Given the description of an element on the screen output the (x, y) to click on. 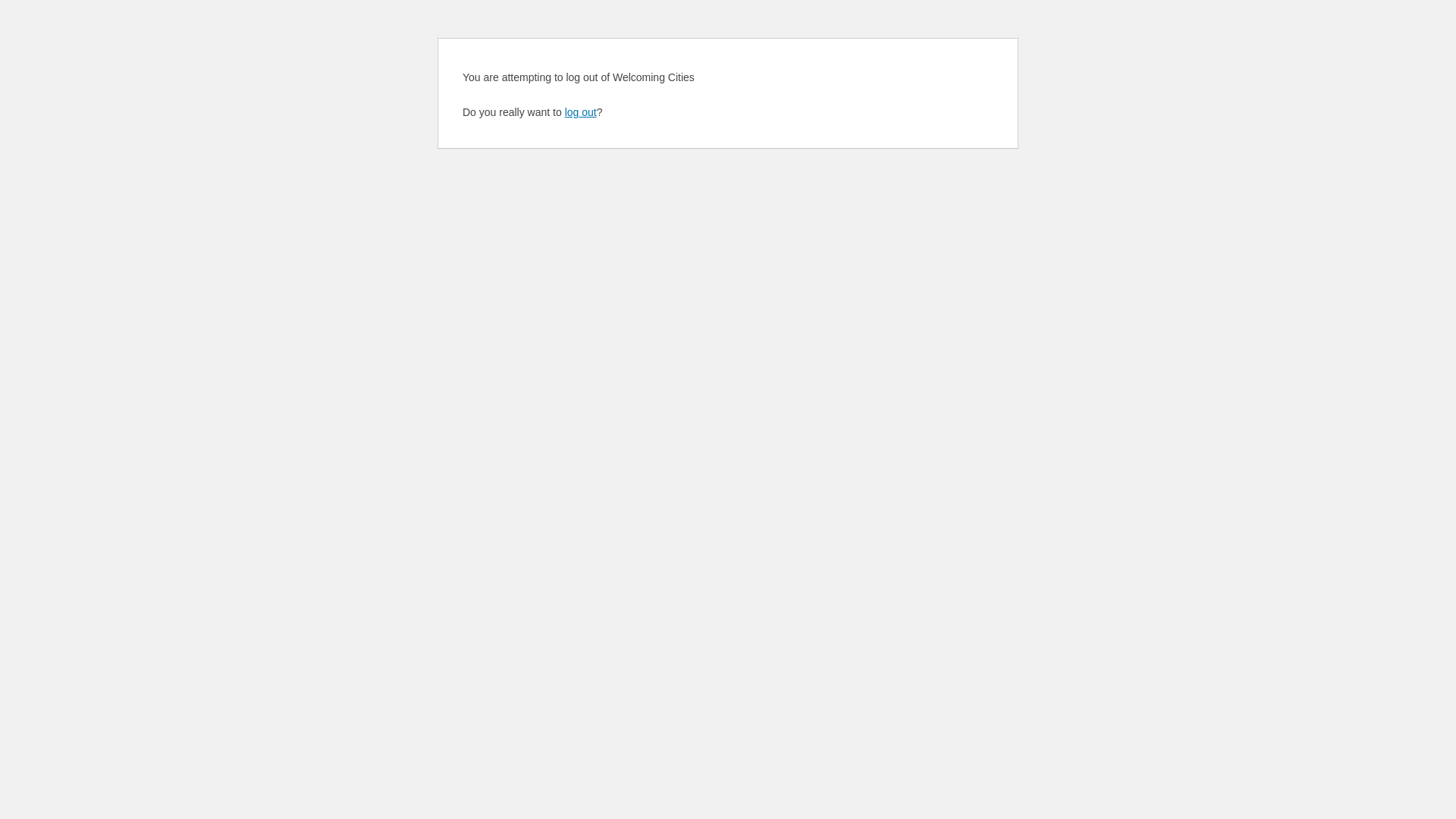
log out Element type: text (580, 112)
